Given the description of an element on the screen output the (x, y) to click on. 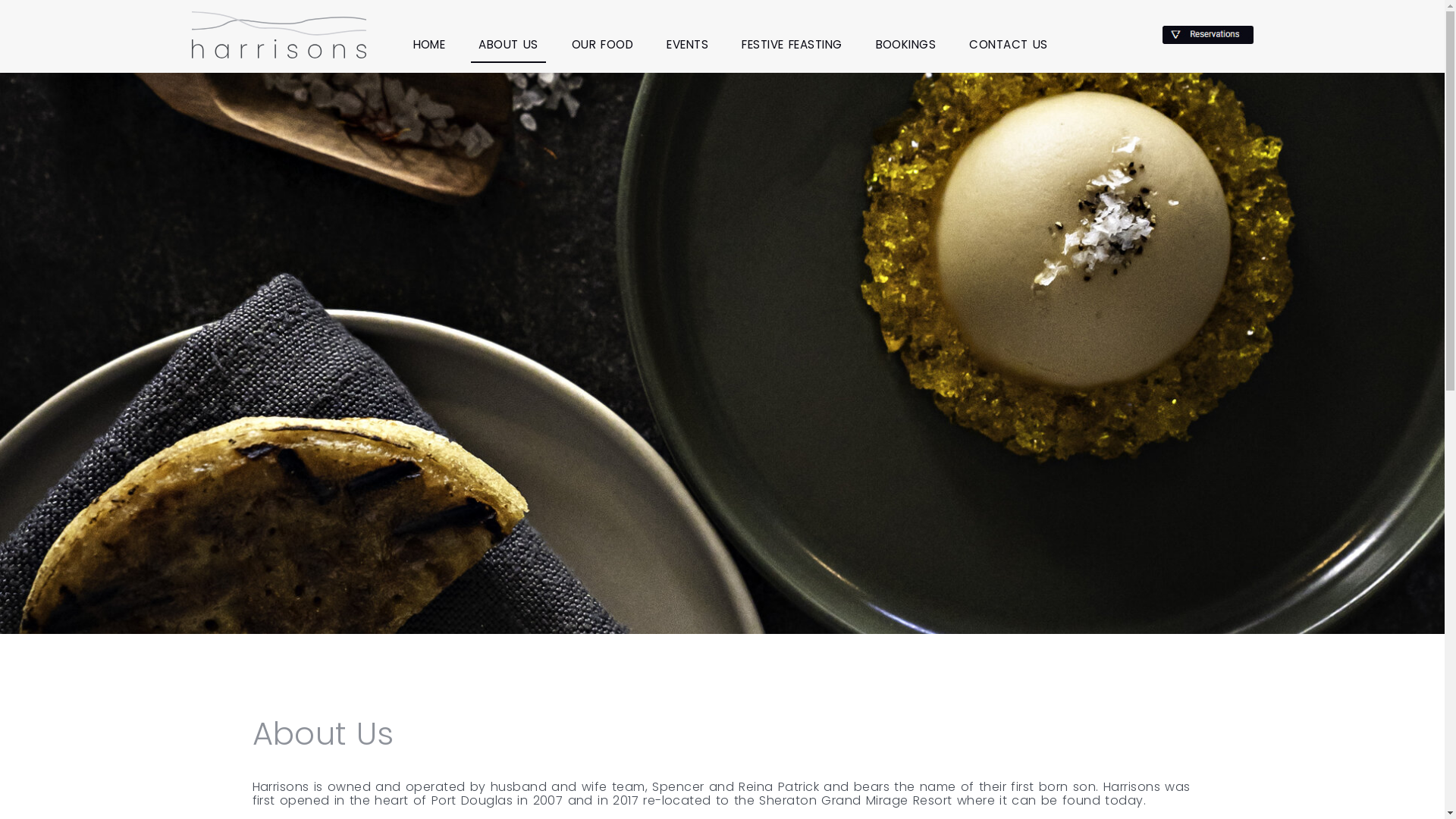
CONTACT US Element type: text (1007, 44)
OUR FOOD Element type: text (602, 44)
ABOUT US Element type: text (507, 44)
EVENTS Element type: text (686, 44)
FESTIVE FEASTING Element type: text (791, 44)
HOME Element type: text (428, 44)
BOOKINGS Element type: text (905, 44)
